Given the description of an element on the screen output the (x, y) to click on. 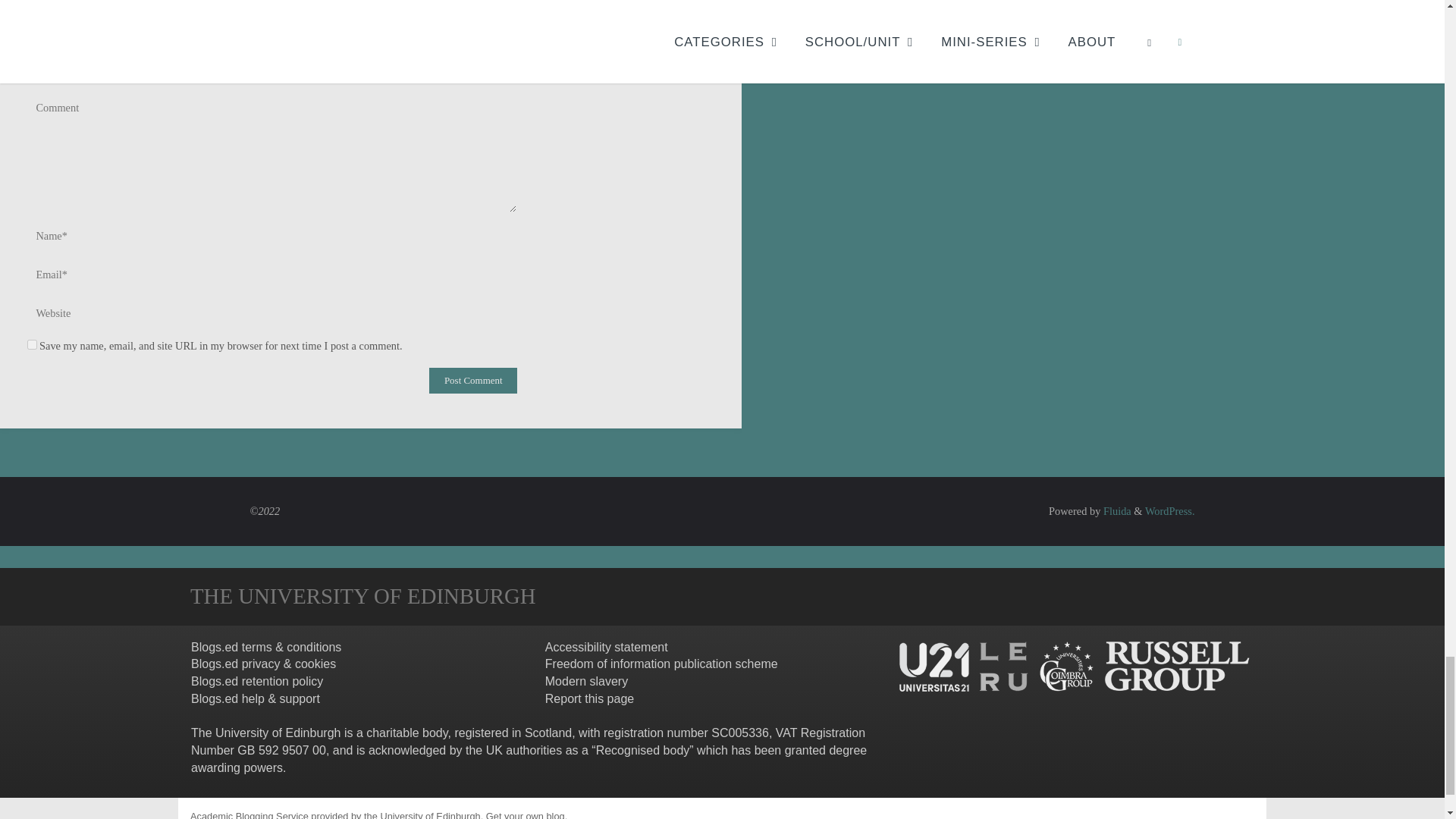
Post Comment (472, 380)
Semantic Personal Publishing Platform (1169, 510)
Fluida WordPress Theme by Cryout Creations (1115, 510)
yes (32, 344)
